Given the description of an element on the screen output the (x, y) to click on. 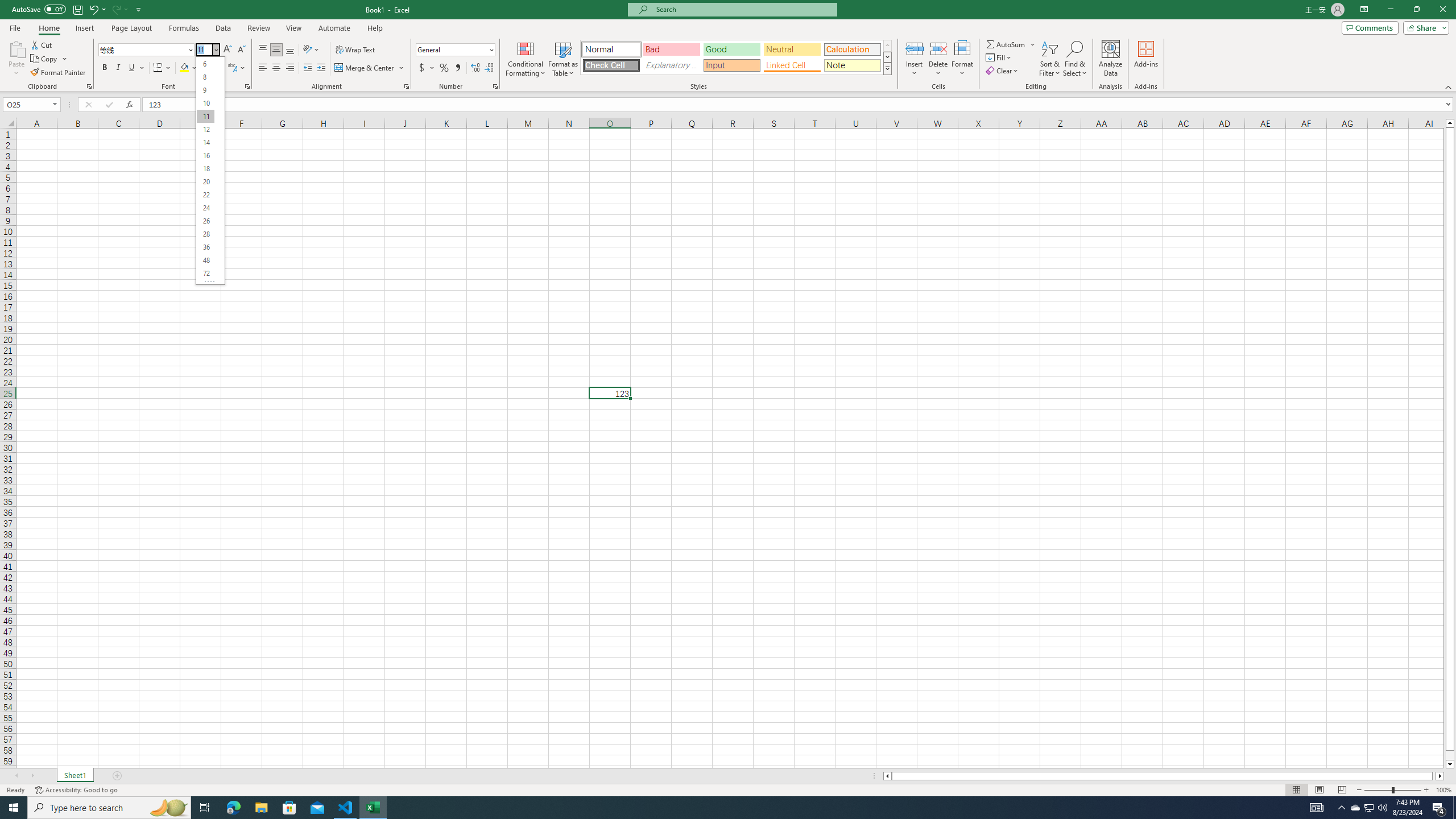
Bottom Align (290, 49)
Input (731, 65)
Percent Style (443, 67)
Decrease Decimal (489, 67)
Merge & Center (365, 67)
Format as Table (563, 58)
Number Format (451, 49)
Copy (49, 58)
22 (205, 194)
Sort & Filter (1049, 58)
